Given the description of an element on the screen output the (x, y) to click on. 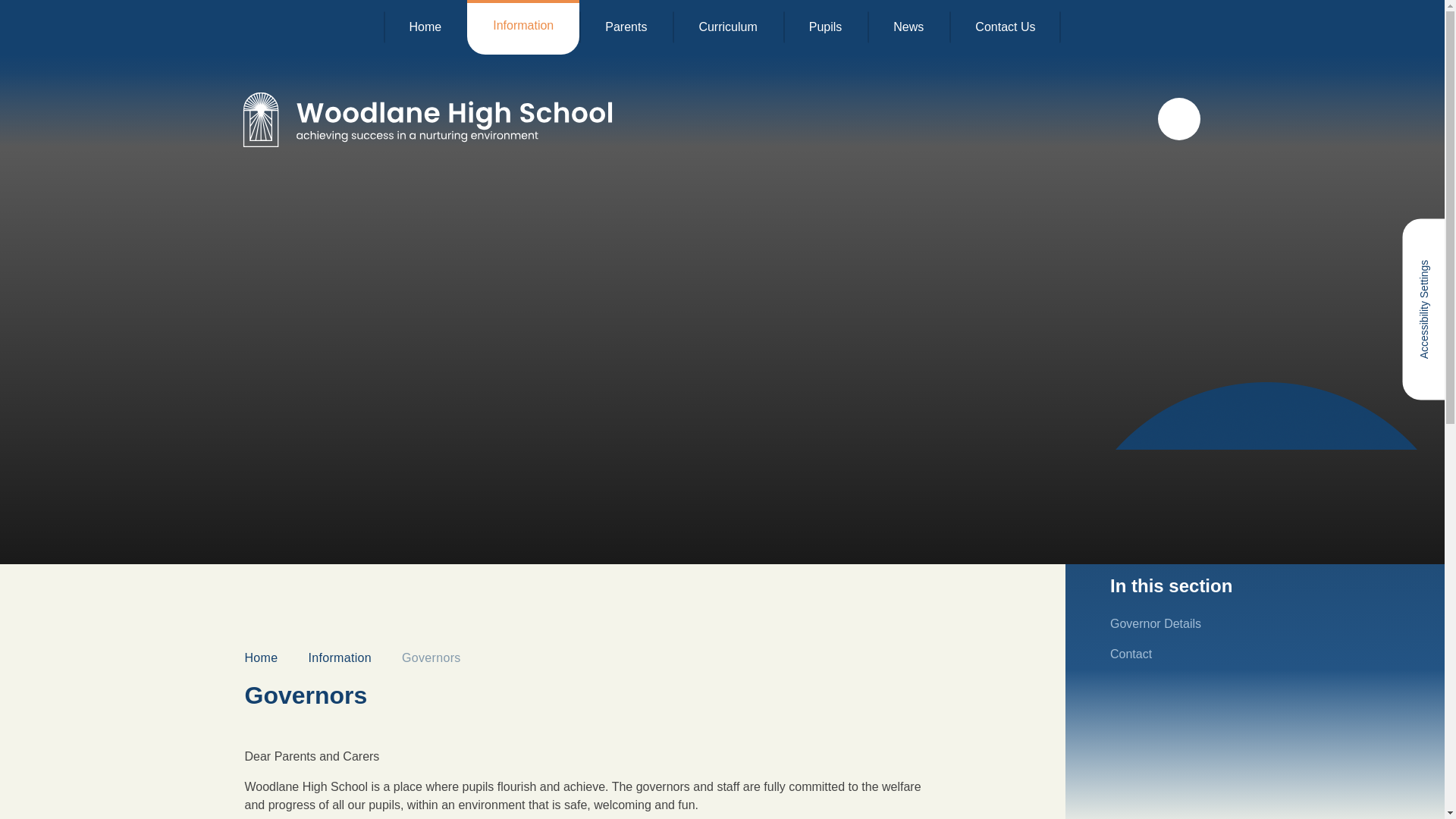
Search (1178, 118)
Information (523, 26)
Home (425, 26)
